Given the description of an element on the screen output the (x, y) to click on. 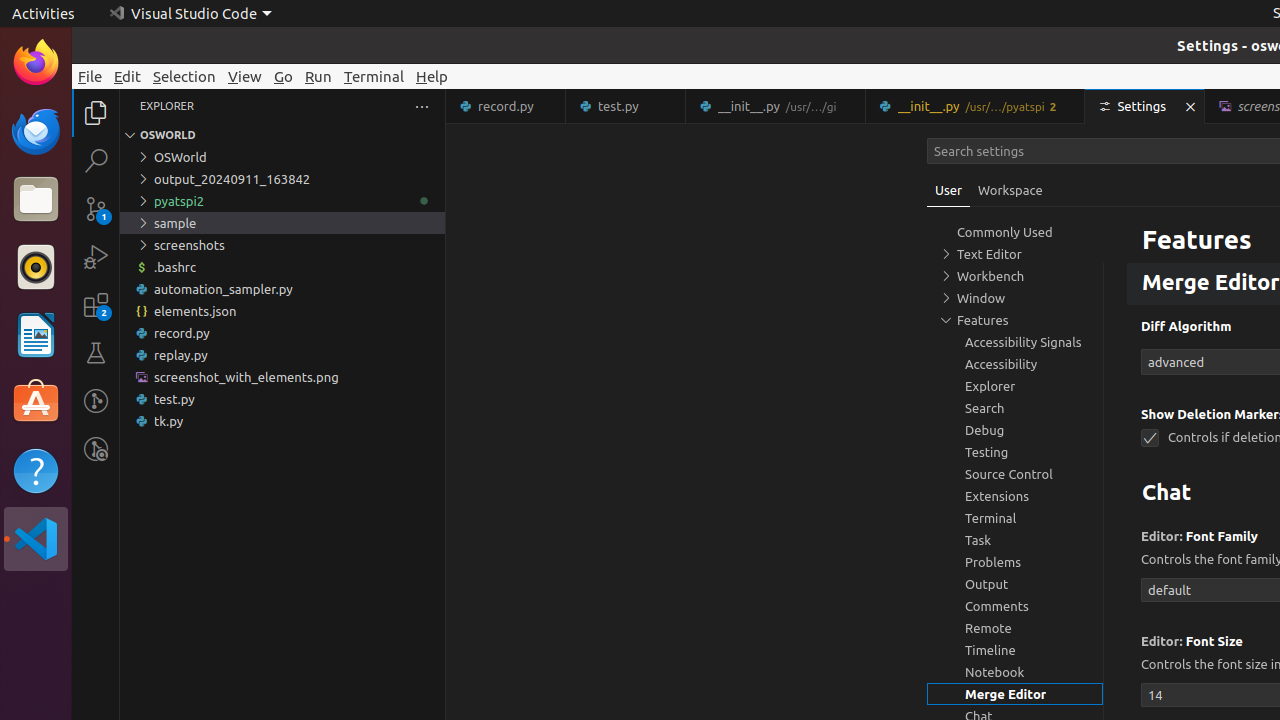
Output, group Element type: tree-item (1015, 584)
__init__.py Element type: page-tab (975, 106)
Text Editor, group Element type: tree-item (1015, 254)
